Given the description of an element on the screen output the (x, y) to click on. 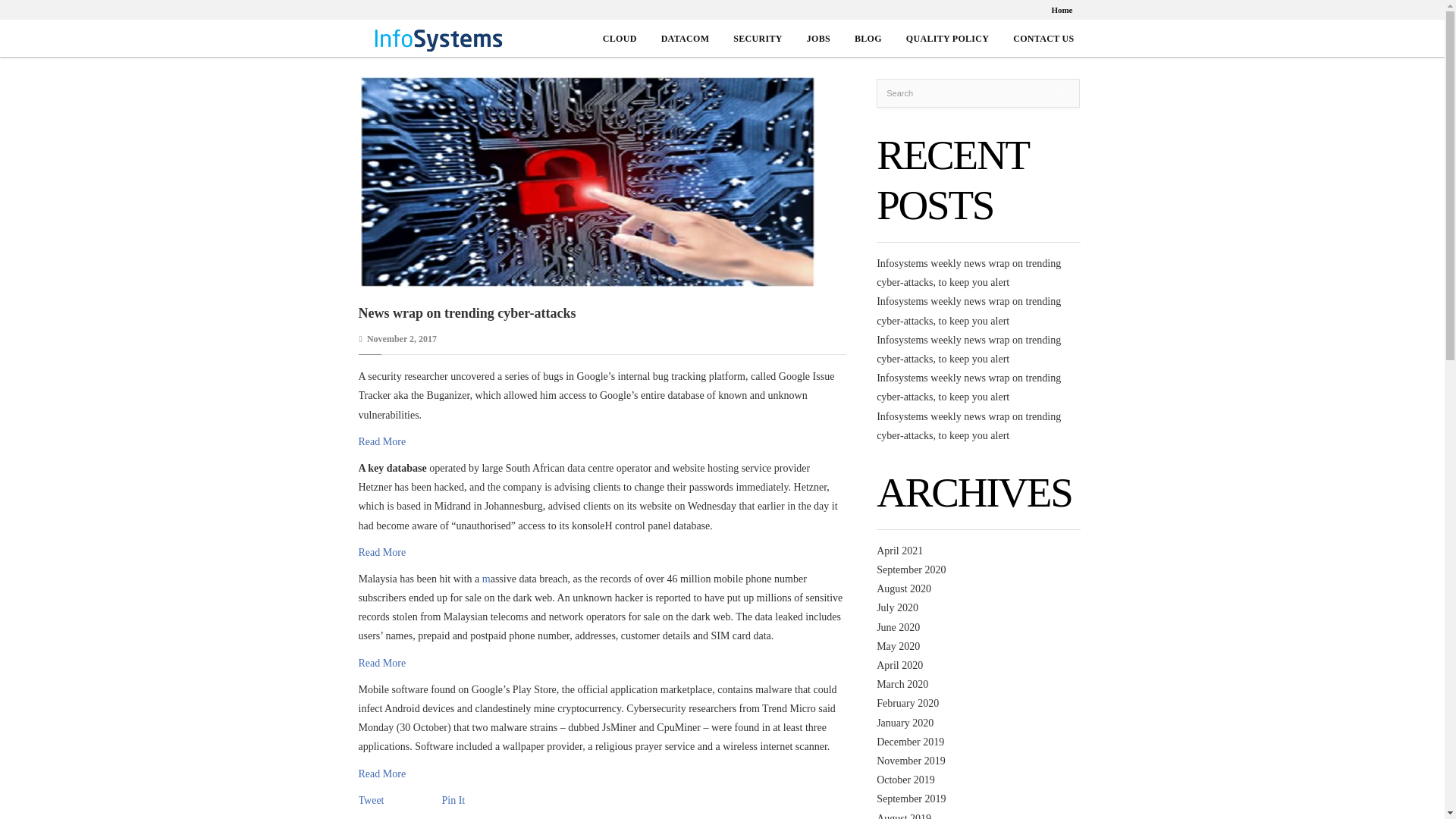
SECURITY (757, 38)
May 2020 (898, 645)
Pin It (452, 800)
June 2020 (898, 627)
Read More (382, 441)
JOBS (817, 38)
Read More (382, 663)
Search (978, 92)
Read More (382, 552)
Tweet (371, 800)
BLOG (868, 38)
